Given the description of an element on the screen output the (x, y) to click on. 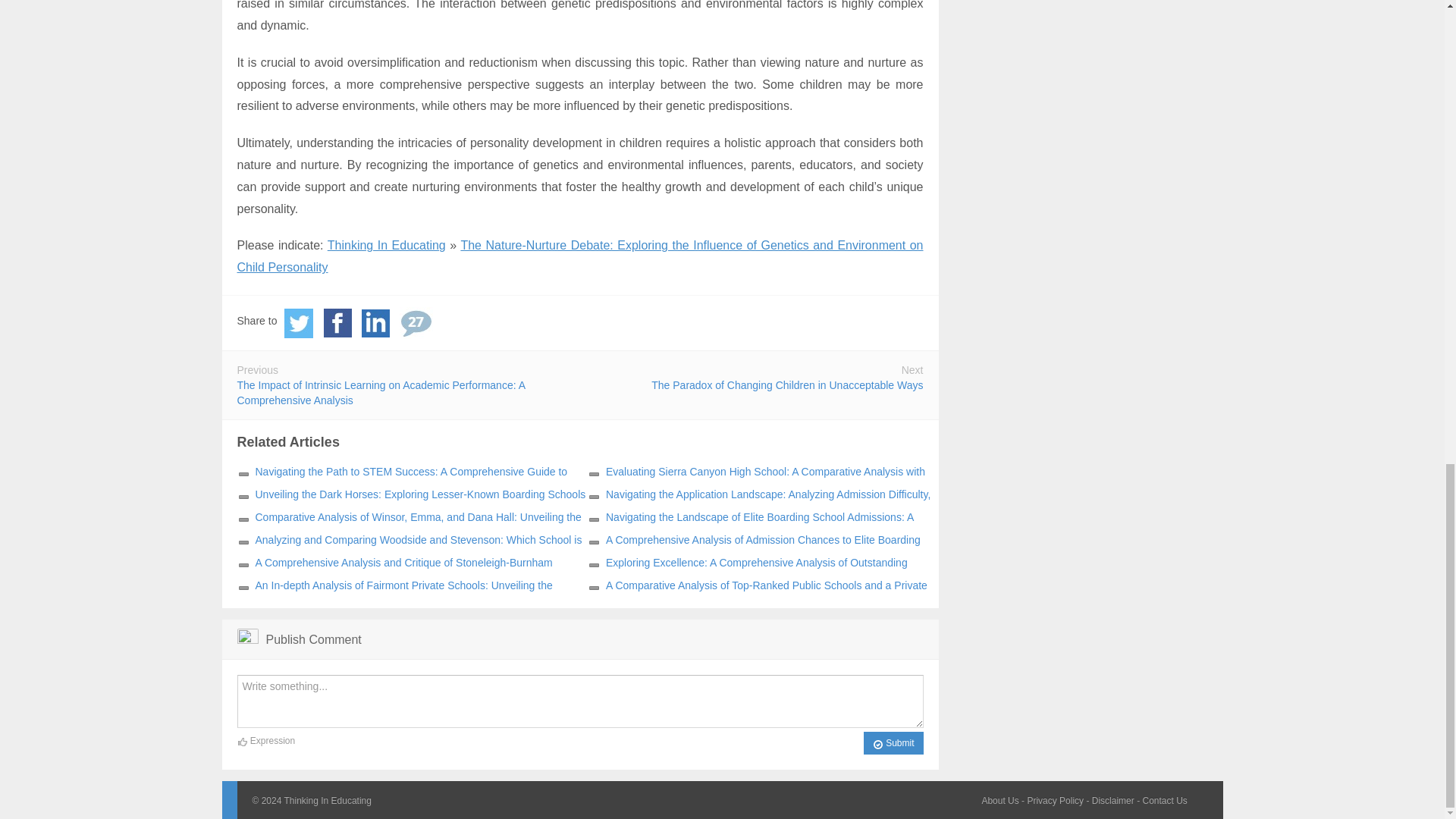
Thinking In Educating (386, 245)
Submit (893, 743)
The Paradox of Changing Children in Unacceptable Ways (786, 385)
